Given the description of an element on the screen output the (x, y) to click on. 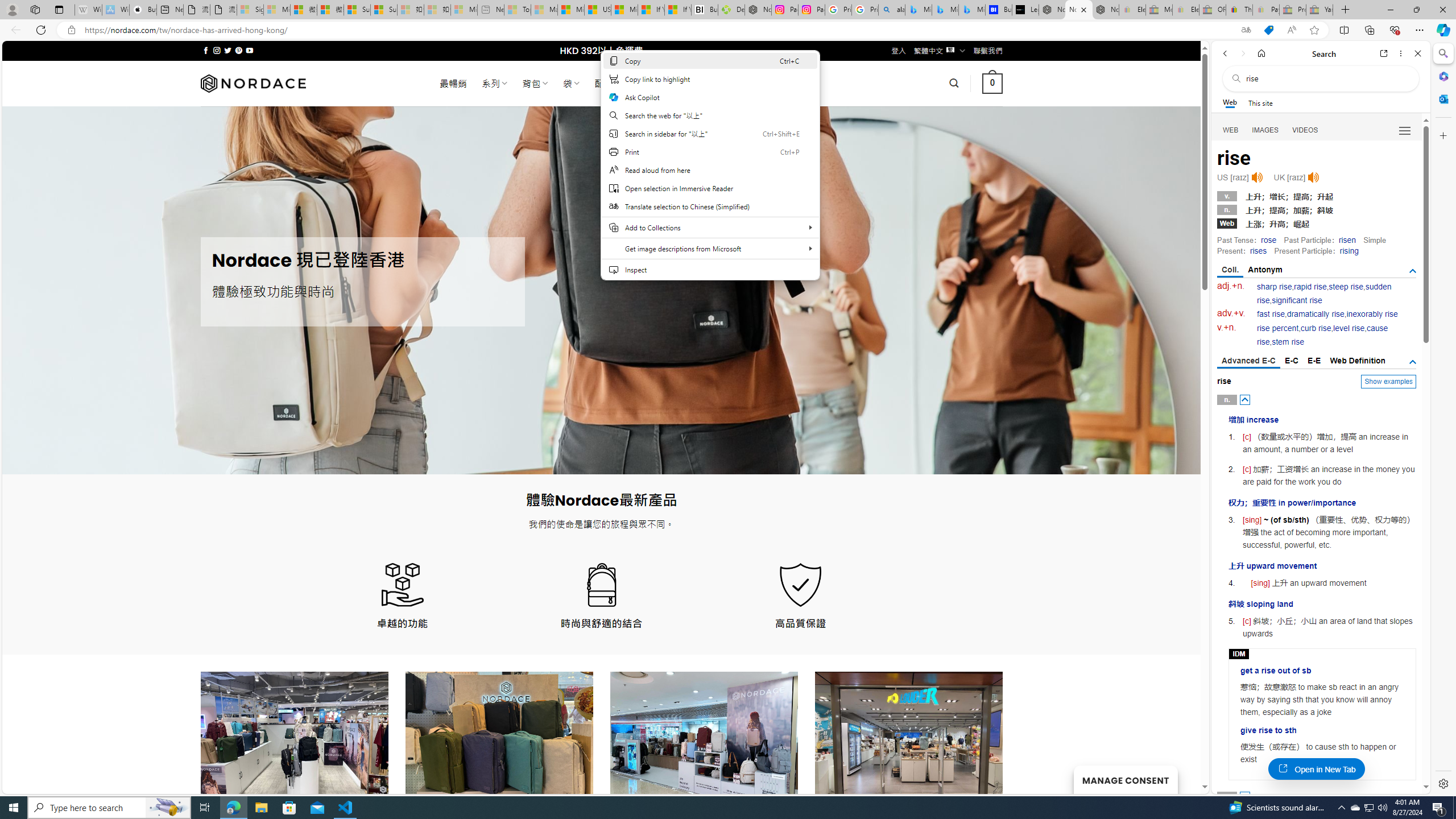
AutomationID: tgsb (1412, 270)
Read aloud from here (710, 170)
Web Definition (1357, 360)
This site has coupons! Shopping in Microsoft Edge (1268, 29)
Search Filter, IMAGES (1265, 129)
